Given the description of an element on the screen output the (x, y) to click on. 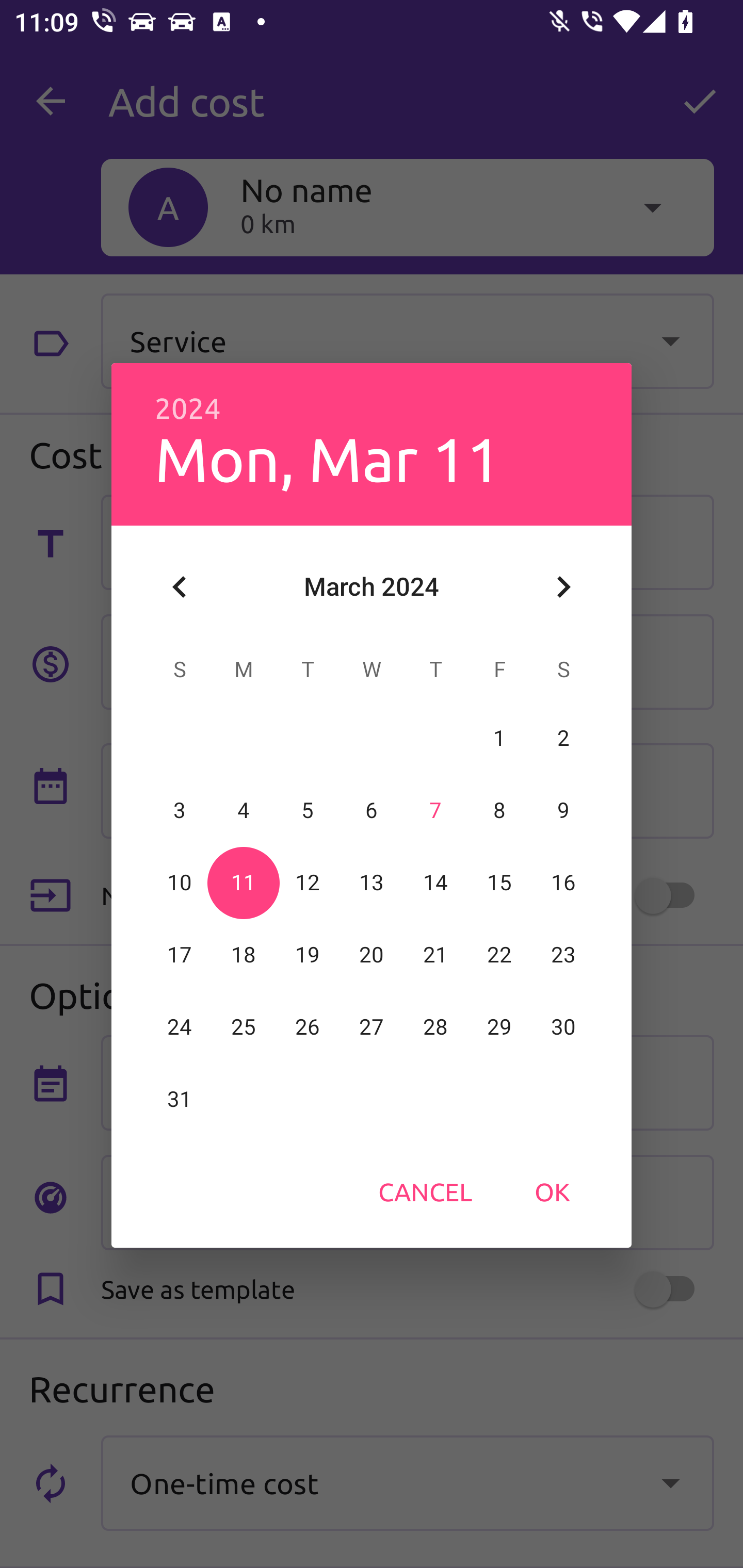
2024 (187, 408)
Mon, Mar 11 (327, 458)
Previous month (178, 587)
Next month (563, 587)
1 01 March 2024 (499, 738)
2 02 March 2024 (563, 738)
3 03 March 2024 (179, 810)
4 04 March 2024 (243, 810)
5 05 March 2024 (307, 810)
6 06 March 2024 (371, 810)
7 07 March 2024 (435, 810)
8 08 March 2024 (499, 810)
9 09 March 2024 (563, 810)
10 10 March 2024 (179, 882)
11 11 March 2024 (243, 882)
12 12 March 2024 (307, 882)
13 13 March 2024 (371, 882)
14 14 March 2024 (435, 882)
15 15 March 2024 (499, 882)
16 16 March 2024 (563, 882)
17 17 March 2024 (179, 954)
18 18 March 2024 (243, 954)
19 19 March 2024 (307, 954)
20 20 March 2024 (371, 954)
21 21 March 2024 (435, 954)
22 22 March 2024 (499, 954)
23 23 March 2024 (563, 954)
24 24 March 2024 (179, 1026)
25 25 March 2024 (243, 1026)
26 26 March 2024 (307, 1026)
27 27 March 2024 (371, 1026)
28 28 March 2024 (435, 1026)
29 29 March 2024 (499, 1026)
30 30 March 2024 (563, 1026)
31 31 March 2024 (179, 1099)
CANCEL (425, 1191)
OK (552, 1191)
